Given the description of an element on the screen output the (x, y) to click on. 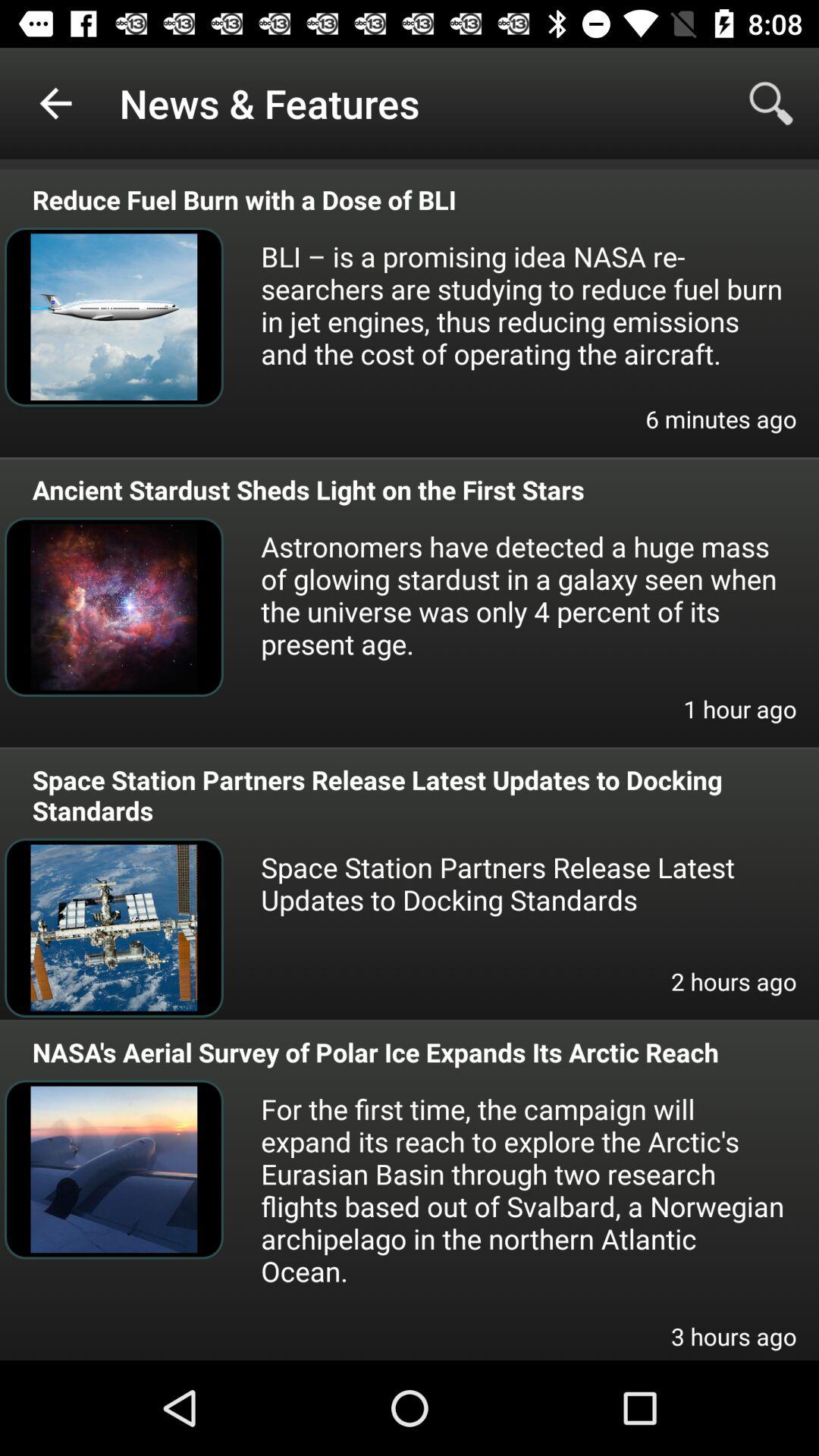
turn off the item above the reduce fuel burn icon (771, 103)
